Given the description of an element on the screen output the (x, y) to click on. 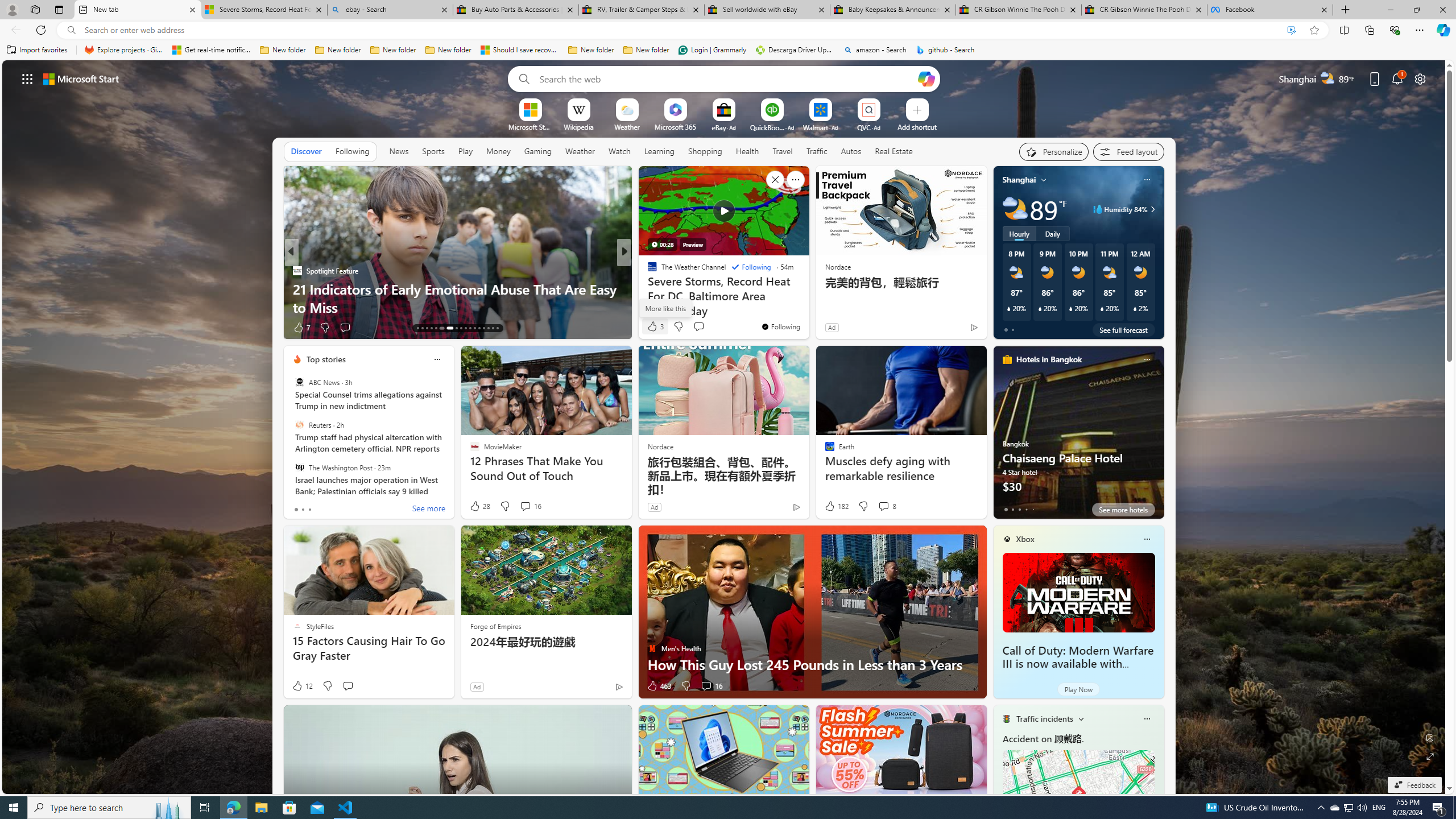
The History of the Windows Start Menu (807, 307)
Traffic incidents (1044, 718)
102 Like (654, 327)
7 Like (301, 327)
View comments 167 Comment (703, 327)
Feed settings (1128, 151)
Forge of Empires (495, 625)
The #1 Best Bench Press Workout To Increase Strength (807, 298)
